Given the description of an element on the screen output the (x, y) to click on. 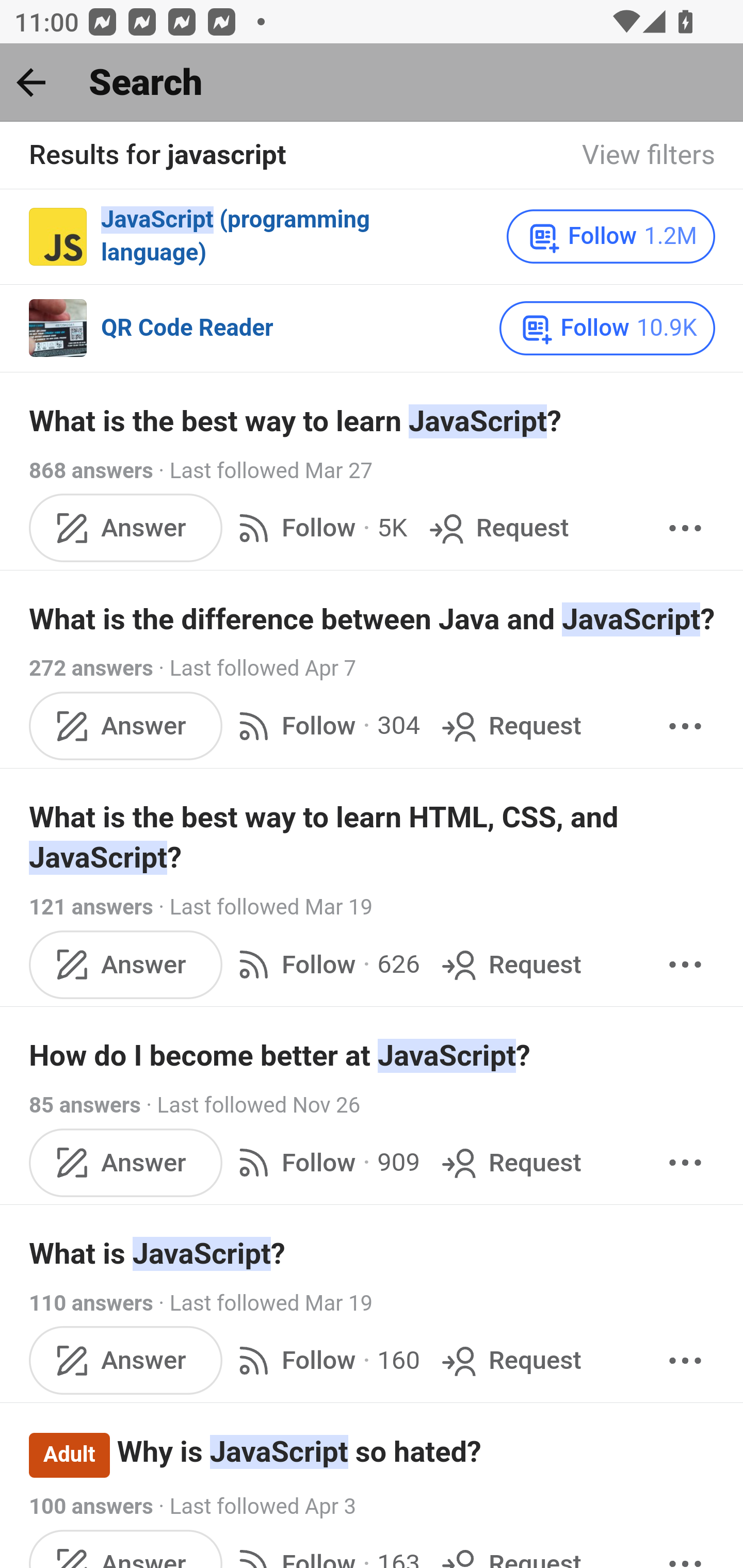
Back Search (371, 82)
Back (30, 82)
View filters (648, 155)
Follow 1.2M (610, 235)
Follow 10.9K (607, 327)
What is the best way to learn JavaScript? (372, 421)
868 answers 868  answers (90, 470)
Answer (125, 528)
Follow · 5K (318, 528)
Request (496, 528)
More (684, 528)
272 answers 272  answers (90, 669)
Answer (125, 725)
Follow · 304 (324, 725)
Request (509, 725)
More (684, 725)
121 answers 121  answers (90, 907)
Answer (125, 964)
Follow · 626 (324, 964)
Request (509, 964)
More (684, 964)
How do I become better at JavaScript? (372, 1055)
85 answers 85  answers (84, 1104)
Answer (125, 1162)
Follow · 909 (324, 1162)
Request (509, 1162)
More (684, 1162)
What is JavaScript? (372, 1254)
110 answers 110  answers (90, 1302)
Answer (125, 1359)
Follow · 160 (324, 1359)
Request (509, 1359)
More (684, 1359)
Adult Why is JavaScript so hated? (372, 1454)
100 answers 100  answers (90, 1507)
